Given the description of an element on the screen output the (x, y) to click on. 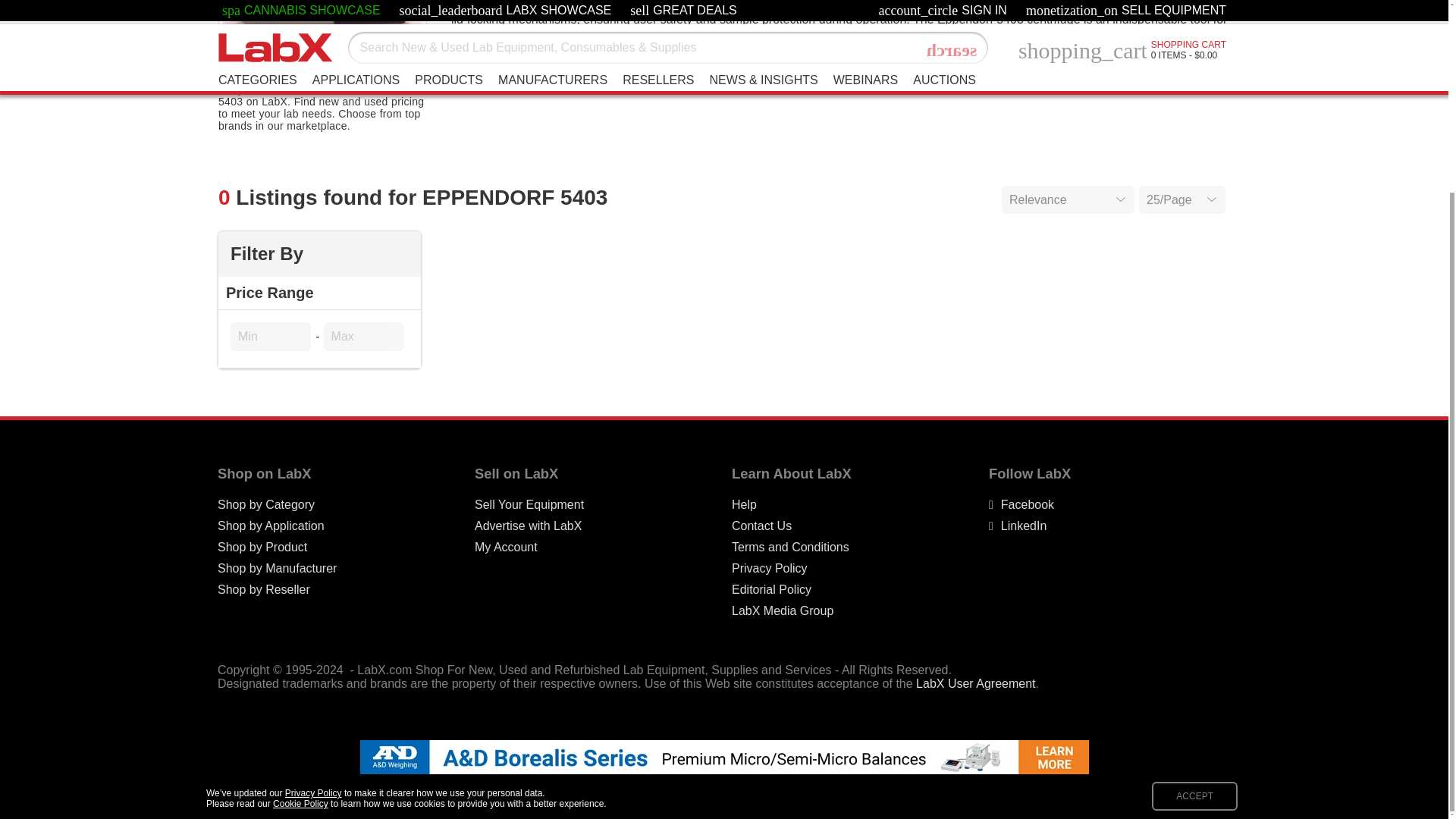
Shop by Reseller (263, 590)
My Account (505, 547)
Shop by Manufacturer (276, 568)
Sell Your Equipment (528, 504)
Shop by Product (261, 547)
Advertise with LabX (527, 526)
Privacy Policy (770, 568)
Terms and Conditions (790, 547)
Editorial Policy (771, 590)
Shop by Category (265, 504)
